Given the description of an element on the screen output the (x, y) to click on. 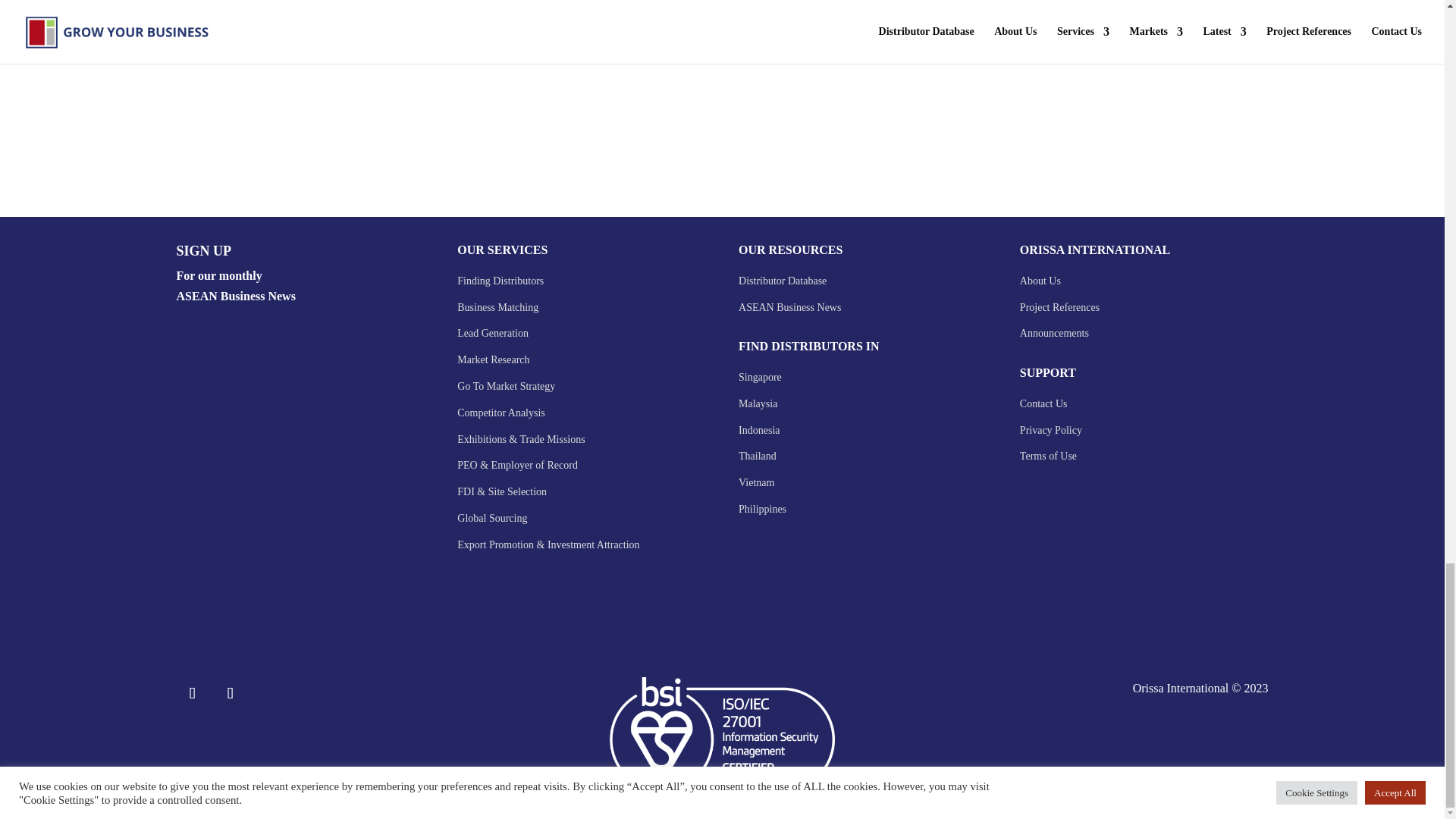
Follow on LinkedIn (230, 693)
Follow on Facebook (192, 693)
